Given the description of an element on the screen output the (x, y) to click on. 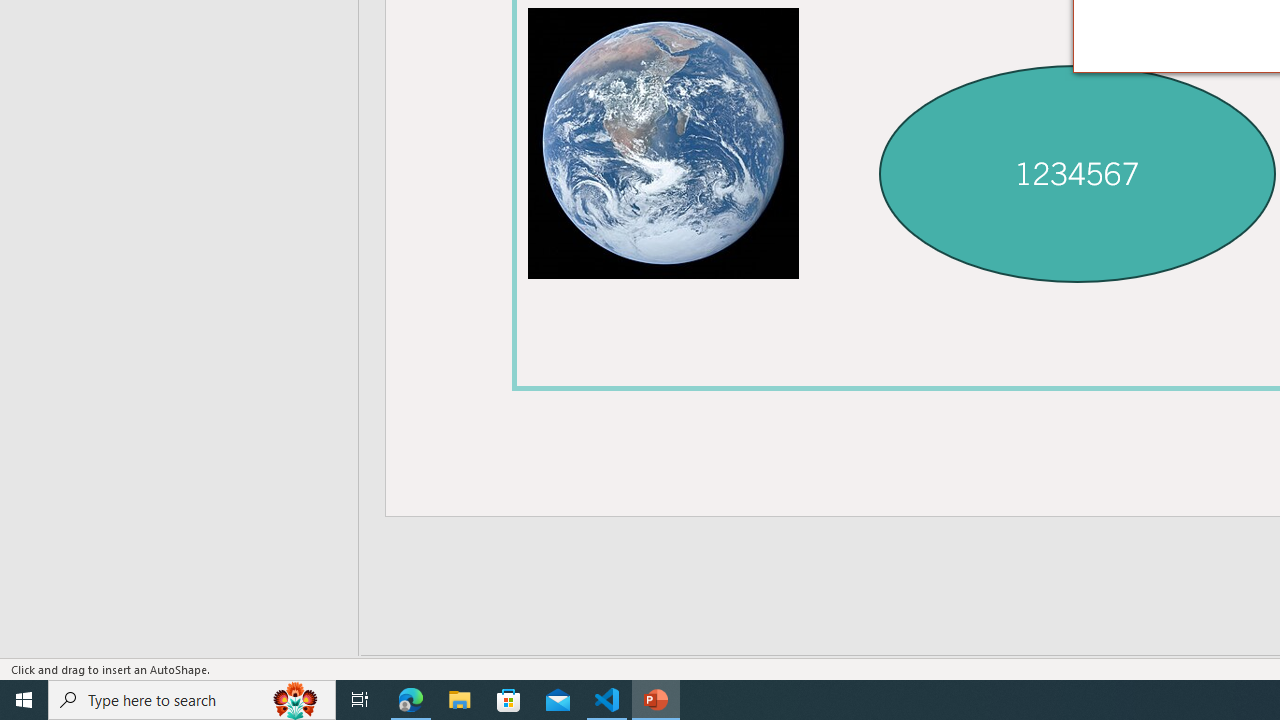
Visual Studio Code - 1 running window (607, 699)
Start (24, 699)
Microsoft Edge - 1 running window (411, 699)
Search highlights icon opens search home window (295, 699)
PowerPoint - 1 running window (656, 699)
Task View (359, 699)
Type here to search (191, 699)
Microsoft Store (509, 699)
File Explorer (460, 699)
